Given the description of an element on the screen output the (x, y) to click on. 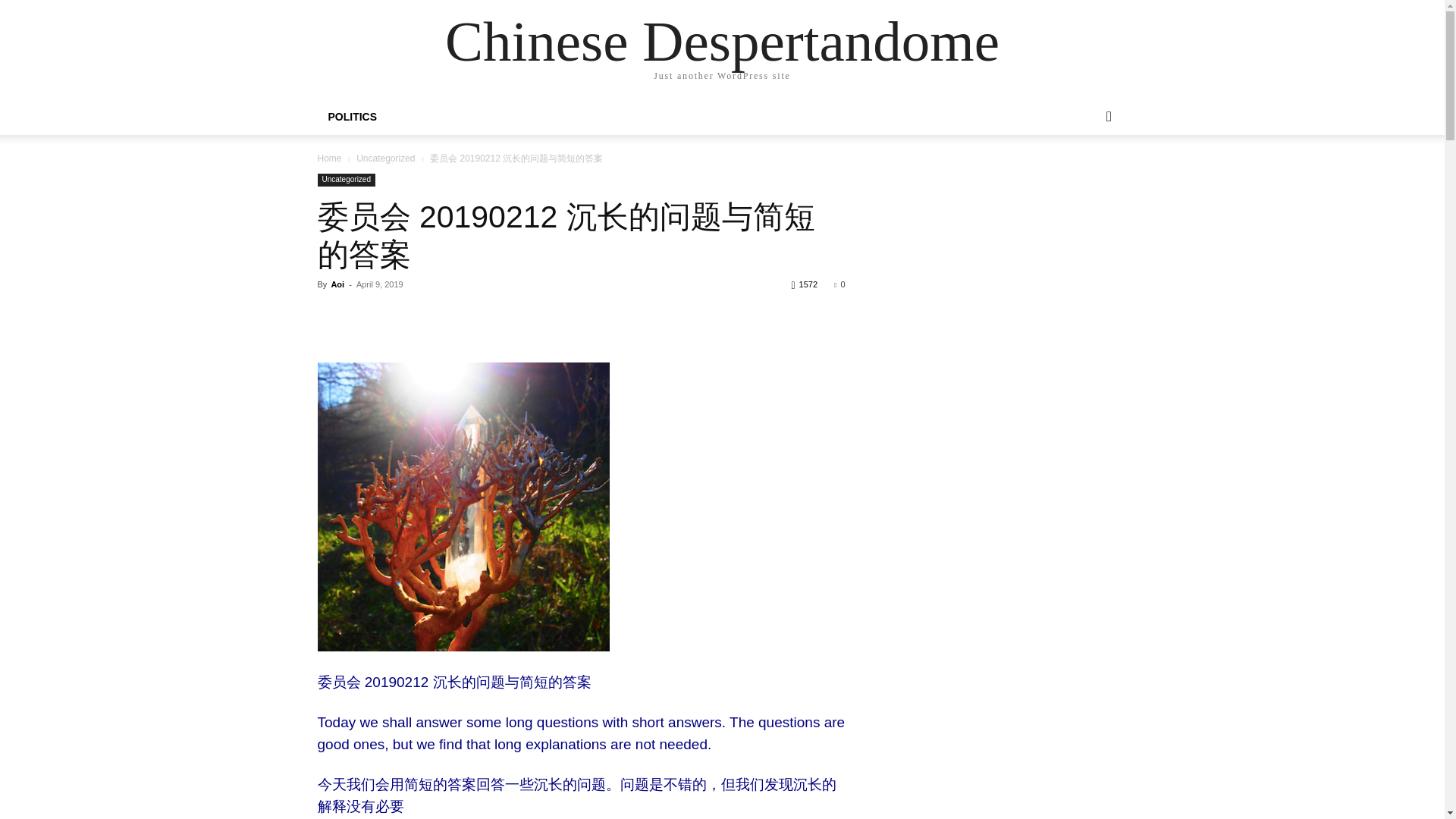
POLITICS (352, 116)
View all posts in Uncategorized (385, 158)
Aoi (336, 284)
Screen Shot 2019-04-08 at 17.47.26 (462, 506)
Chinese Despertandome (721, 41)
Search (1085, 177)
Uncategorized (385, 158)
Home (328, 158)
Uncategorized (345, 179)
0 (839, 284)
